Given the description of an element on the screen output the (x, y) to click on. 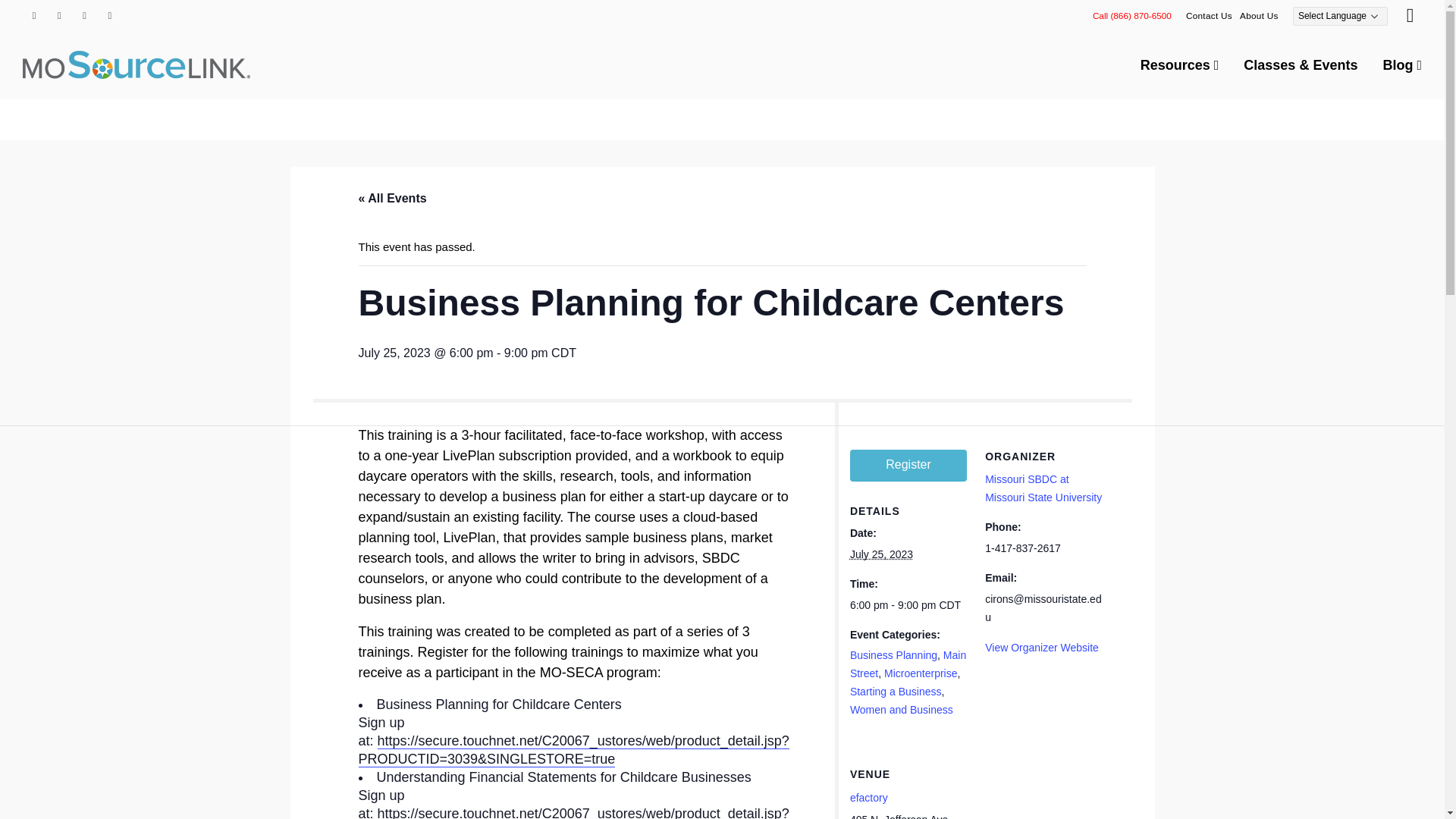
2023-07-25 (881, 553)
About Us (1259, 15)
RSS (85, 15)
LinkedIn (109, 15)
Missouri SBDC at Missouri State University (1043, 488)
Resources (1179, 64)
Contact Us (1209, 15)
Blog (1402, 64)
Facebook (34, 15)
2023-07-25 (908, 605)
